Given the description of an element on the screen output the (x, y) to click on. 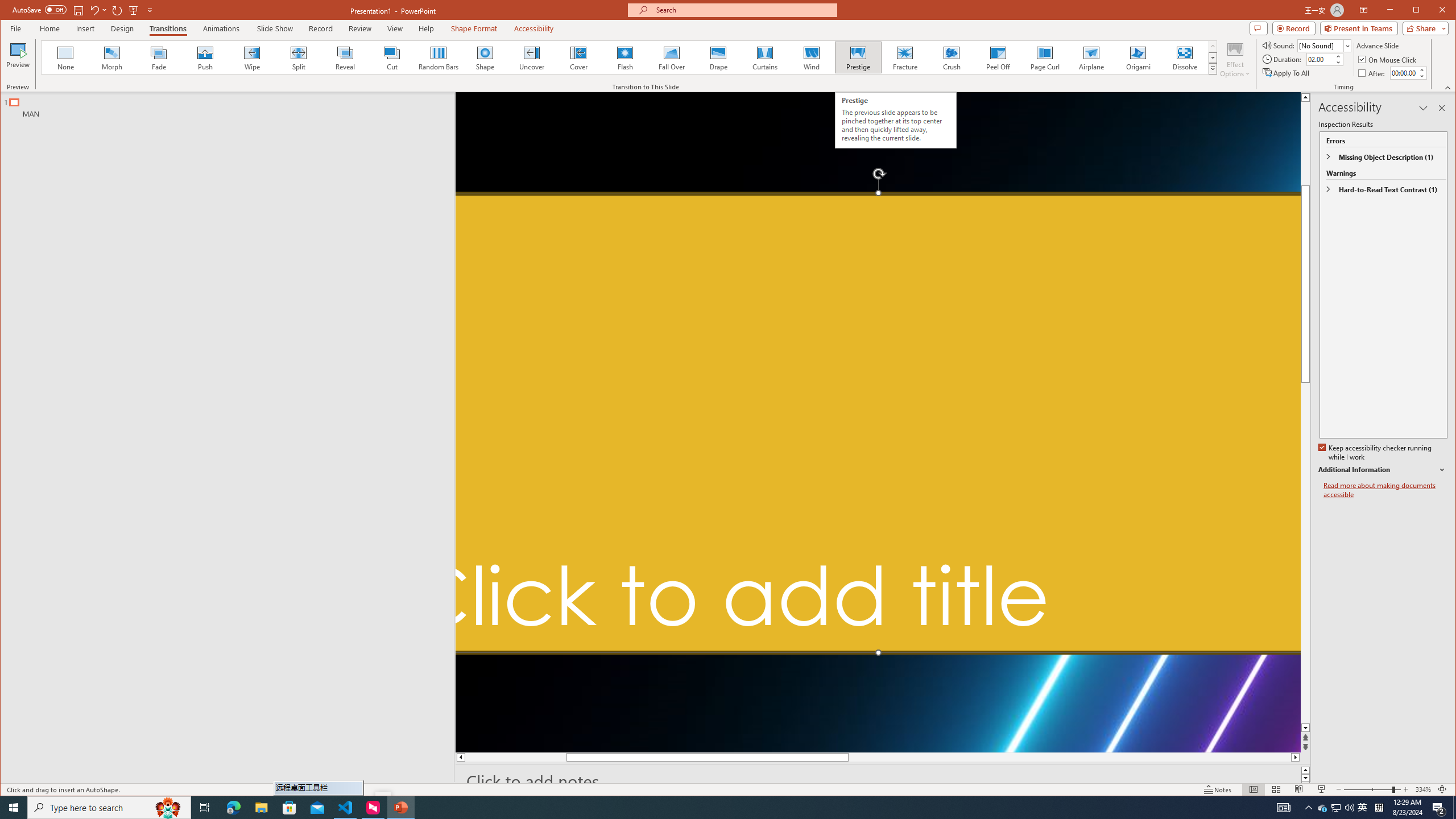
Push (205, 57)
Curtains (764, 57)
Transition Effects (1212, 68)
